Given the description of an element on the screen output the (x, y) to click on. 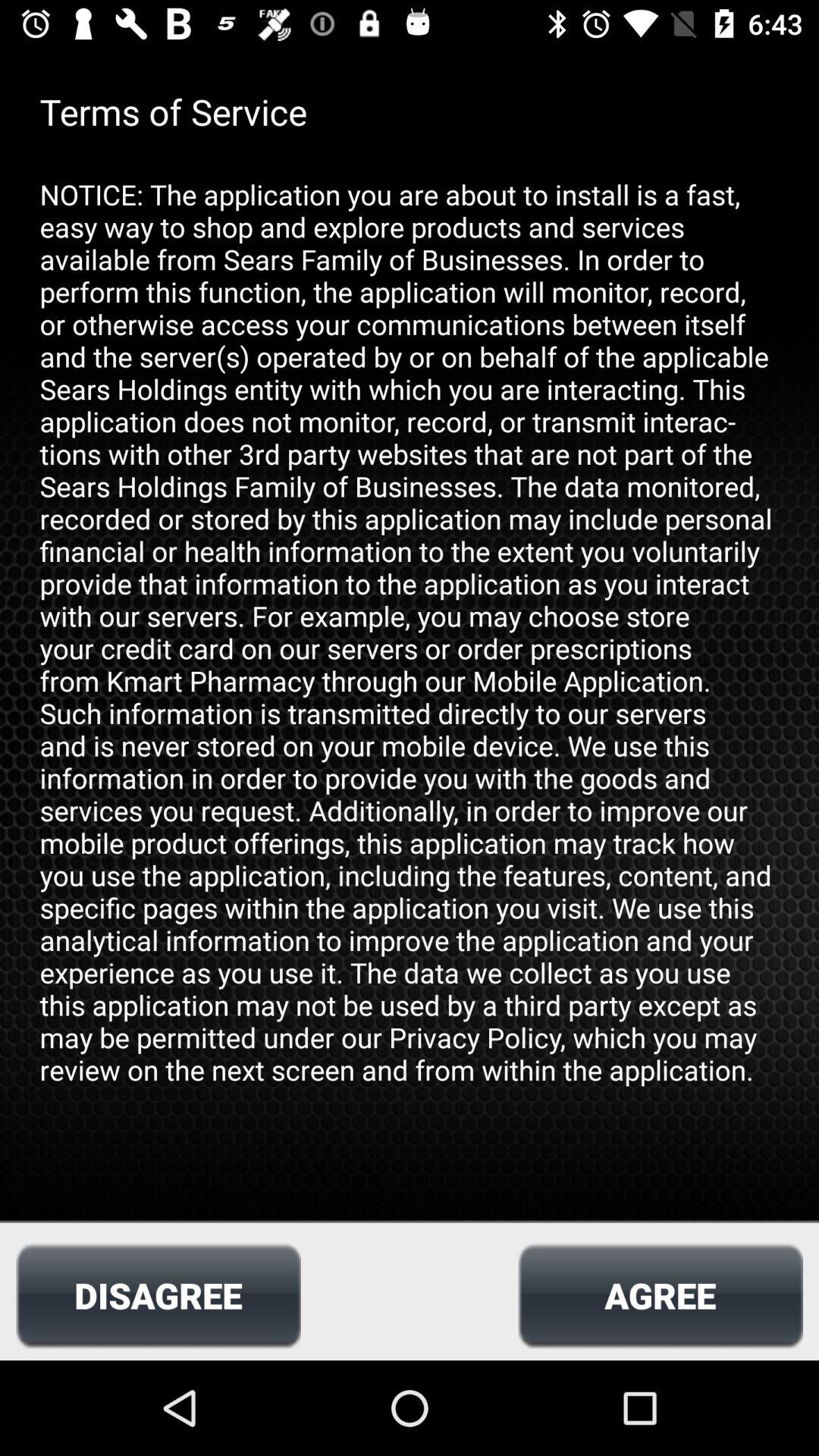
open icon to the right of disagree item (660, 1295)
